Given the description of an element on the screen output the (x, y) to click on. 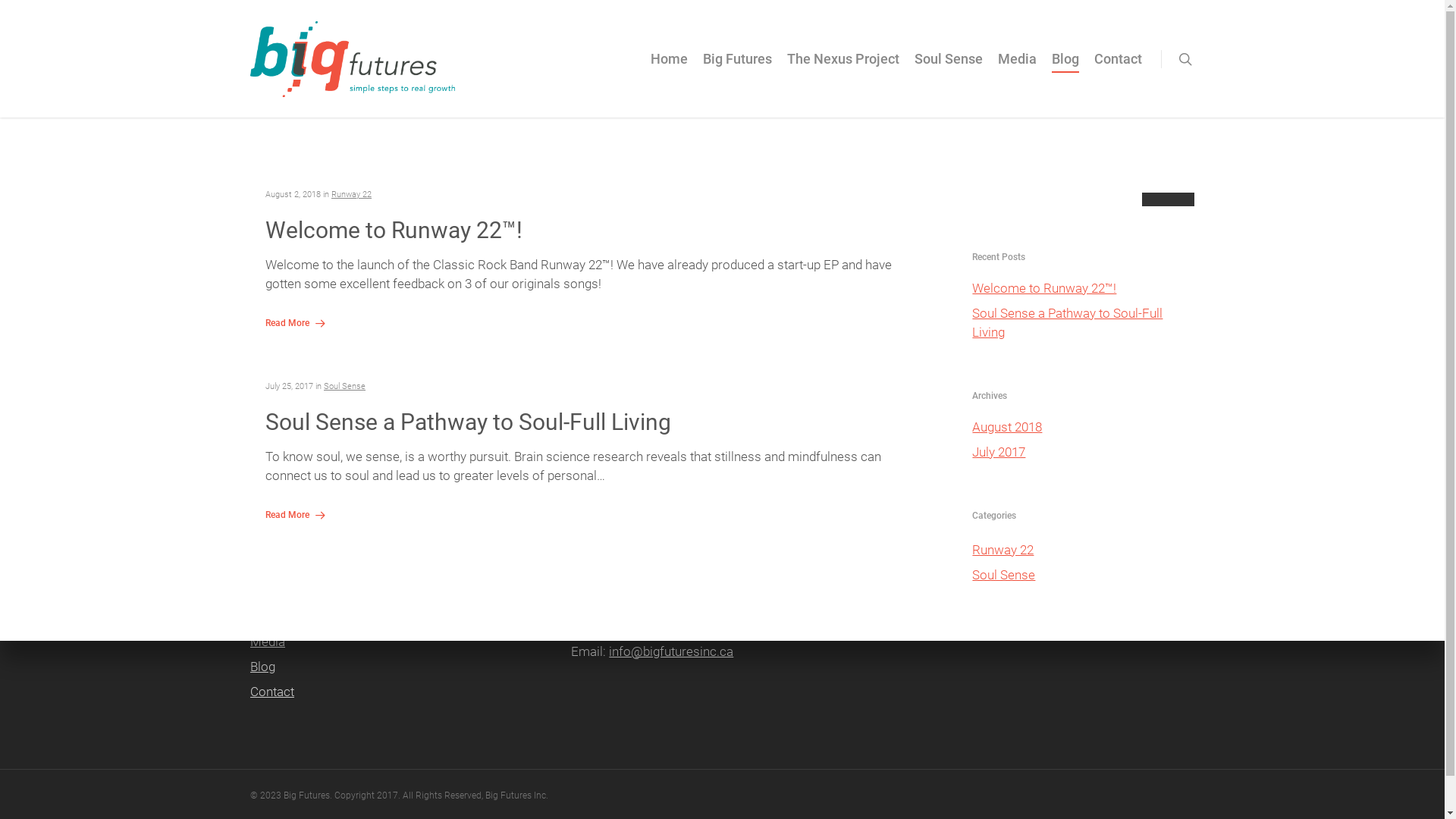
The Nexus Project Element type: text (401, 591)
Soul Sense Element type: text (948, 69)
Contact Element type: text (401, 691)
Runway 22 Element type: text (351, 194)
Search Element type: text (1168, 213)
August 2018 Element type: text (1083, 426)
info@bigfuturesinc.ca Element type: text (670, 650)
Search Element type: text (1172, 537)
Media Element type: text (1016, 69)
Soul Sense Element type: text (1083, 574)
Big Futures Element type: text (401, 566)
Soul Sense Element type: text (401, 616)
The Nexus Project Element type: text (843, 69)
Blog Element type: text (1065, 69)
Blog Element type: text (401, 666)
Big Futures Element type: text (736, 69)
July 2017 Element type: text (1083, 451)
Home Element type: text (668, 69)
Contact Element type: text (1118, 69)
Soul Sense a Pathway to Soul-Full Living Element type: text (1083, 323)
Search for: Element type: hover (1043, 515)
Soul Sense Element type: text (344, 386)
Search for: Element type: hover (1083, 187)
Home Element type: text (401, 541)
Runway 22 Element type: text (1083, 549)
Media Element type: text (401, 641)
